Given the description of an element on the screen output the (x, y) to click on. 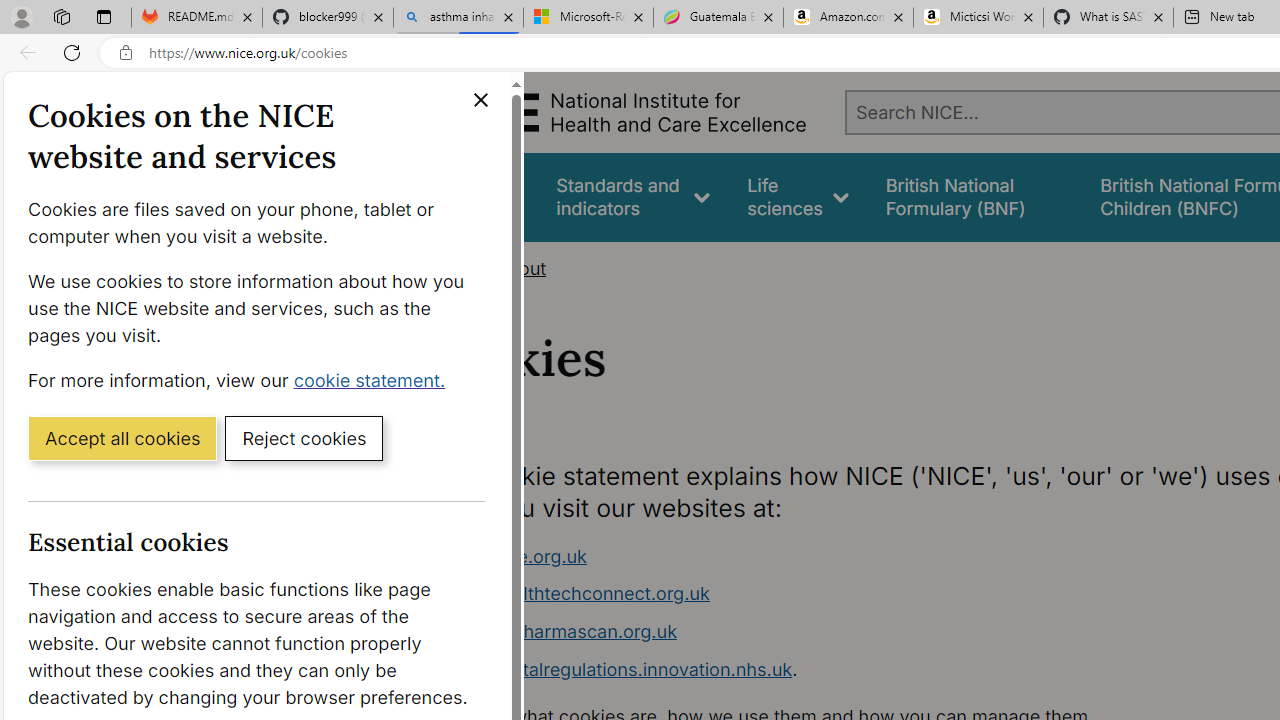
cookie statement. (Opens in a new window) (373, 379)
asthma inhaler - Search (458, 17)
false (974, 196)
Home> (456, 268)
Close cookie banner (480, 99)
www.ukpharmascan.org.uk (818, 632)
